Given the description of an element on the screen output the (x, y) to click on. 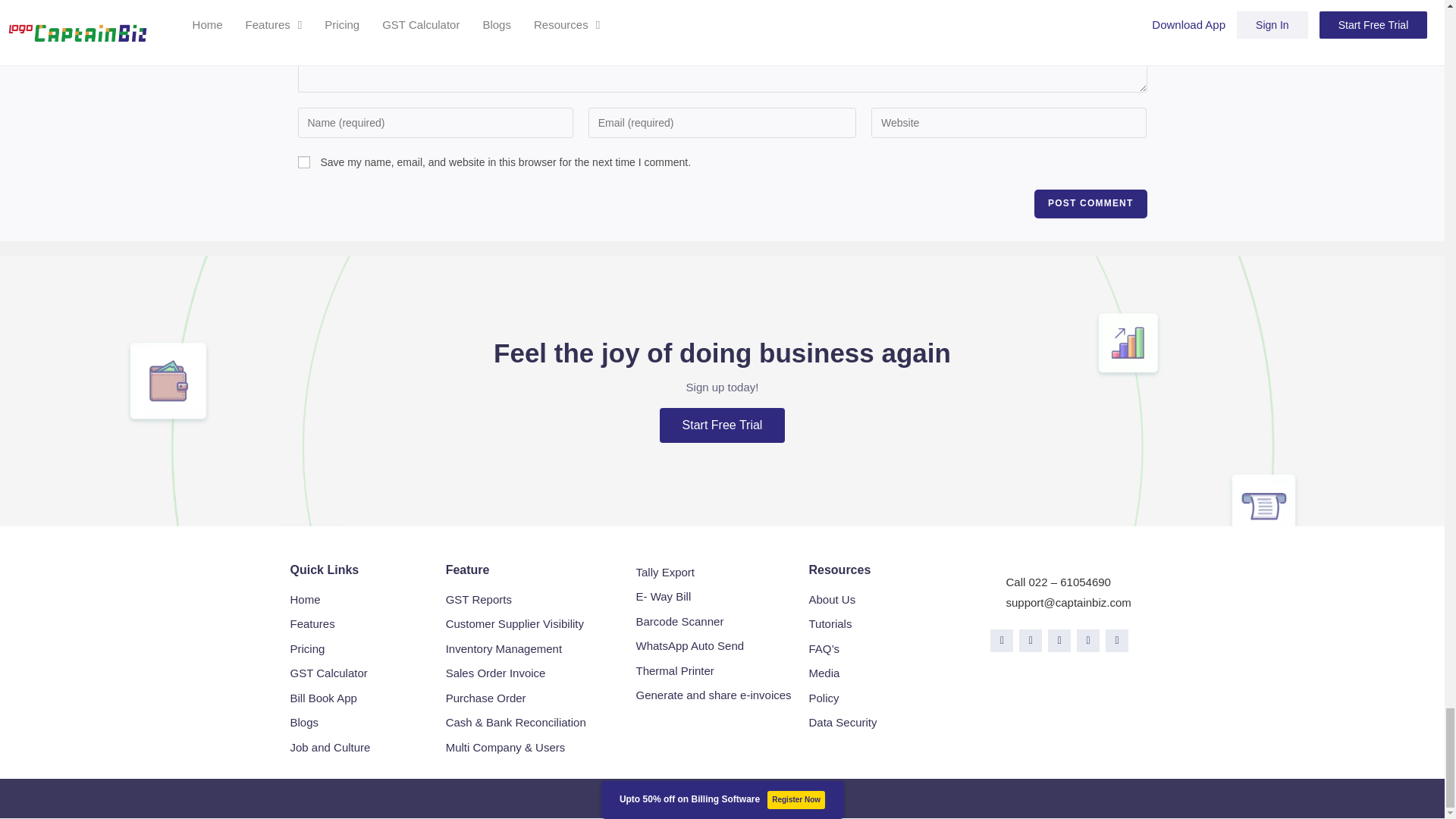
yes (302, 162)
Post Comment (1090, 203)
